Given the description of an element on the screen output the (x, y) to click on. 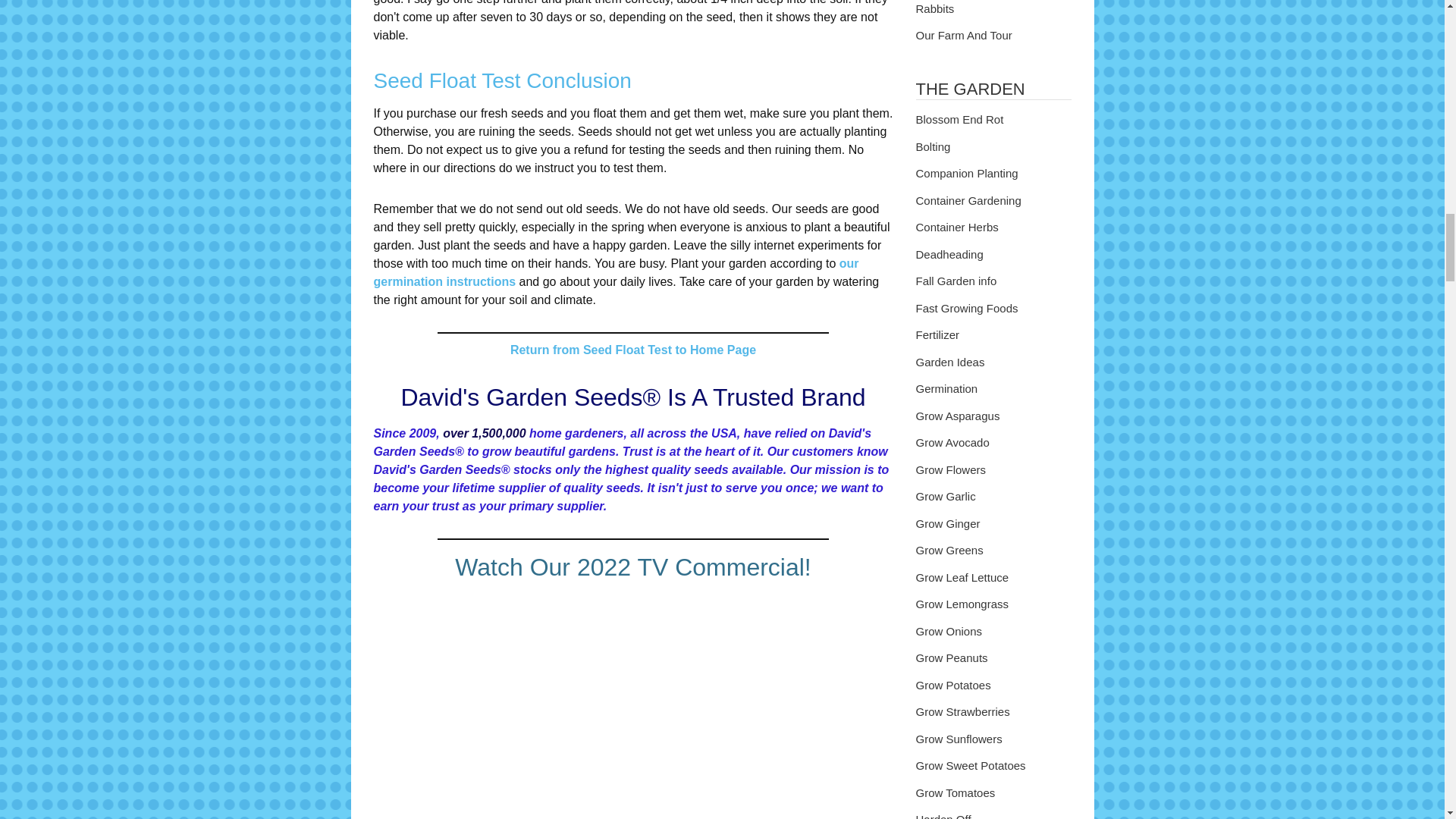
Rabbits (993, 11)
YouTube video player (632, 706)
our germination instructions (615, 272)
Blossom End Rot (993, 119)
Bolting (993, 147)
Our Farm And Tour (993, 35)
Return from Seed Float Test to Home Page (633, 349)
